Given the description of an element on the screen output the (x, y) to click on. 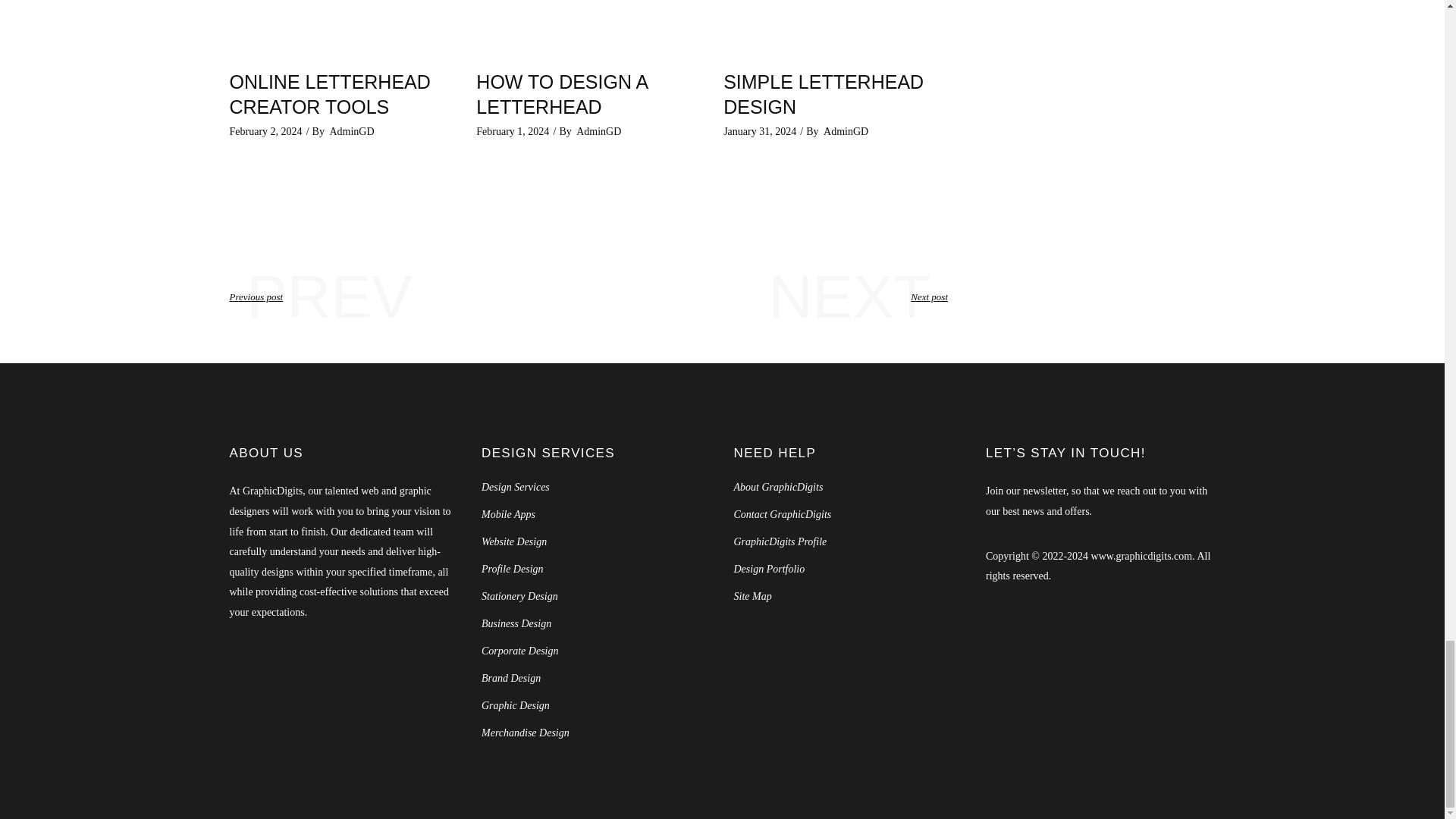
Online Letterhead Creator Tools (340, 27)
Simple Letterhead Design (835, 27)
How To Design a Letterhead (588, 27)
Simple Letterhead Design (823, 94)
Online Letterhead Creator Tools (328, 94)
How To Design a Letterhead (561, 94)
